Given the description of an element on the screen output the (x, y) to click on. 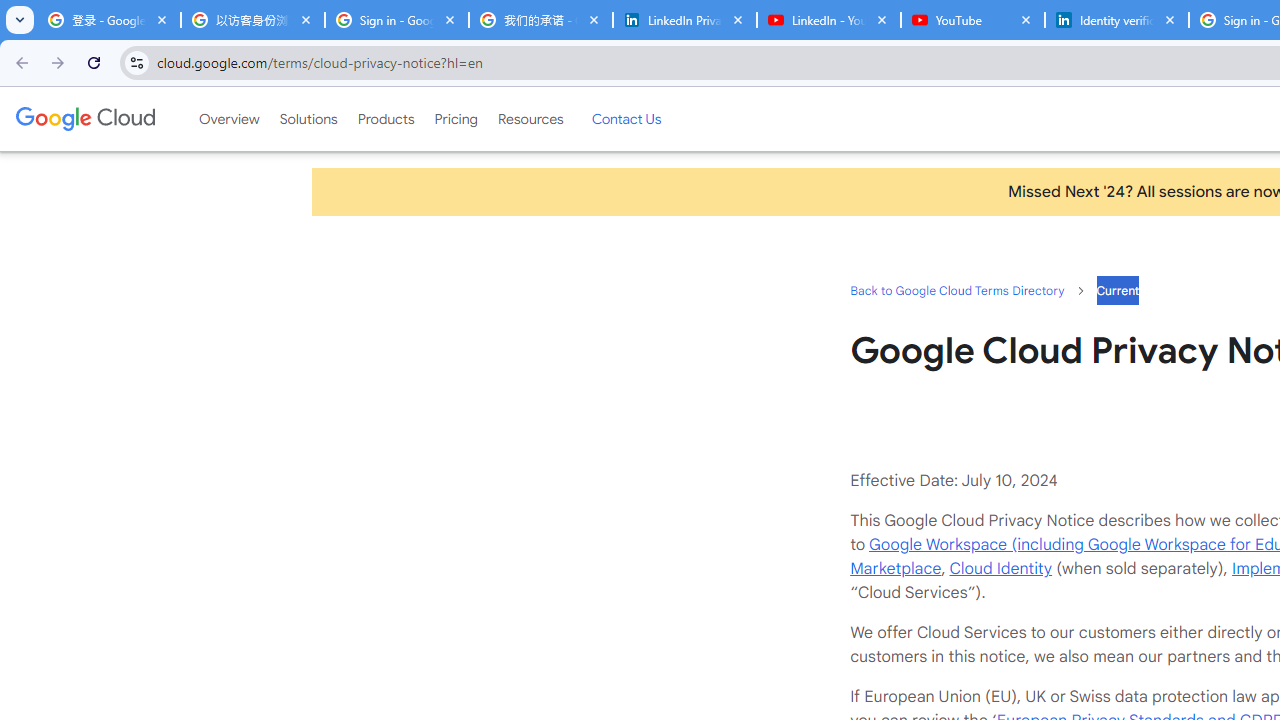
Solutions (308, 119)
LinkedIn Privacy Policy (684, 20)
Back to Google Cloud Terms Directory (956, 290)
Sign in - Google Accounts (396, 20)
YouTube (972, 20)
Products (385, 119)
